Given the description of an element on the screen output the (x, y) to click on. 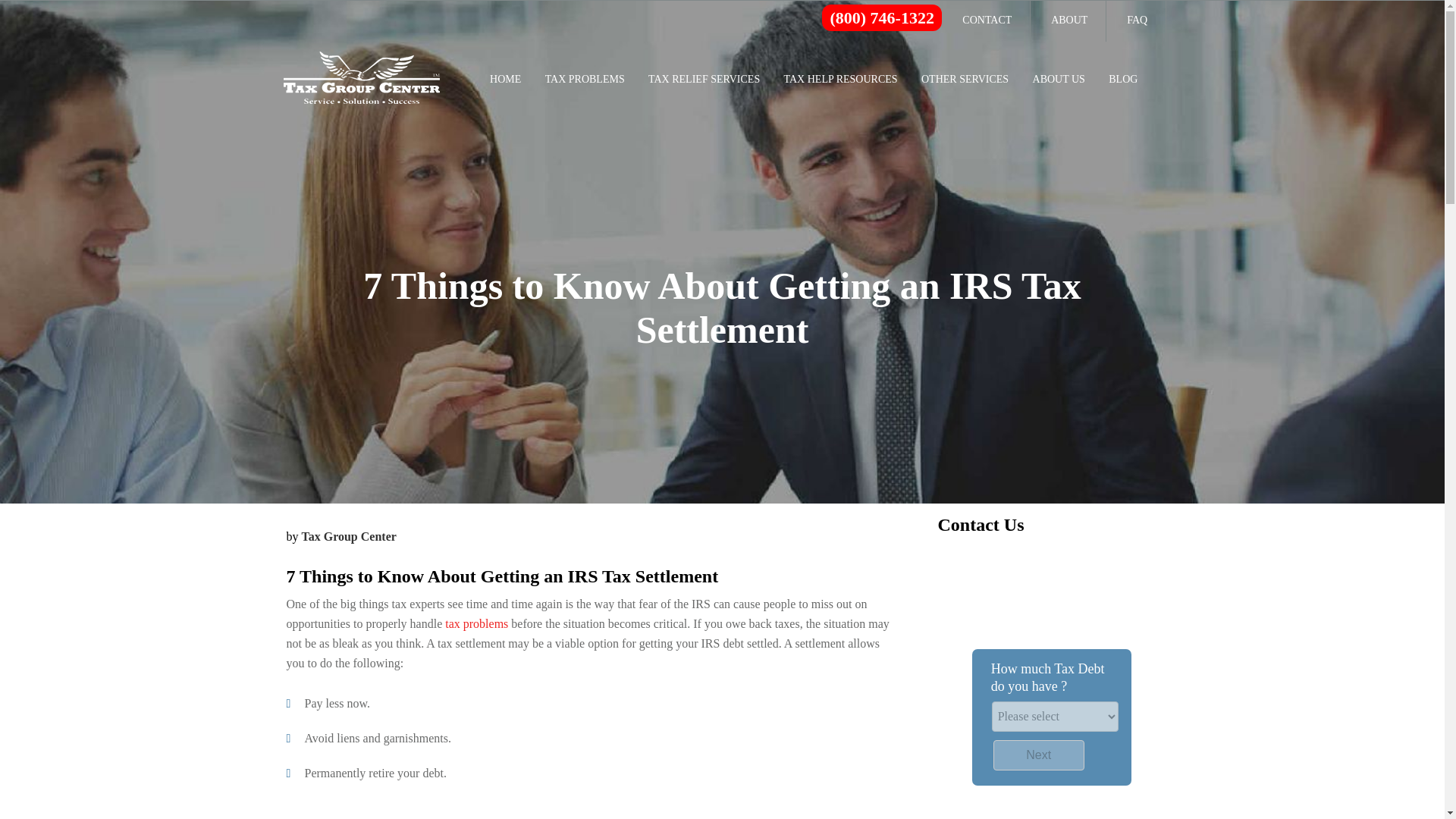
HOME (505, 79)
FAQ (1136, 19)
ABOUT (1069, 19)
TAX RELIEF SERVICES (703, 79)
TAX HELP RESOURCES (841, 79)
Next (1038, 755)
CONTACT (986, 19)
TAX PROBLEMS (584, 79)
